Given the description of an element on the screen output the (x, y) to click on. 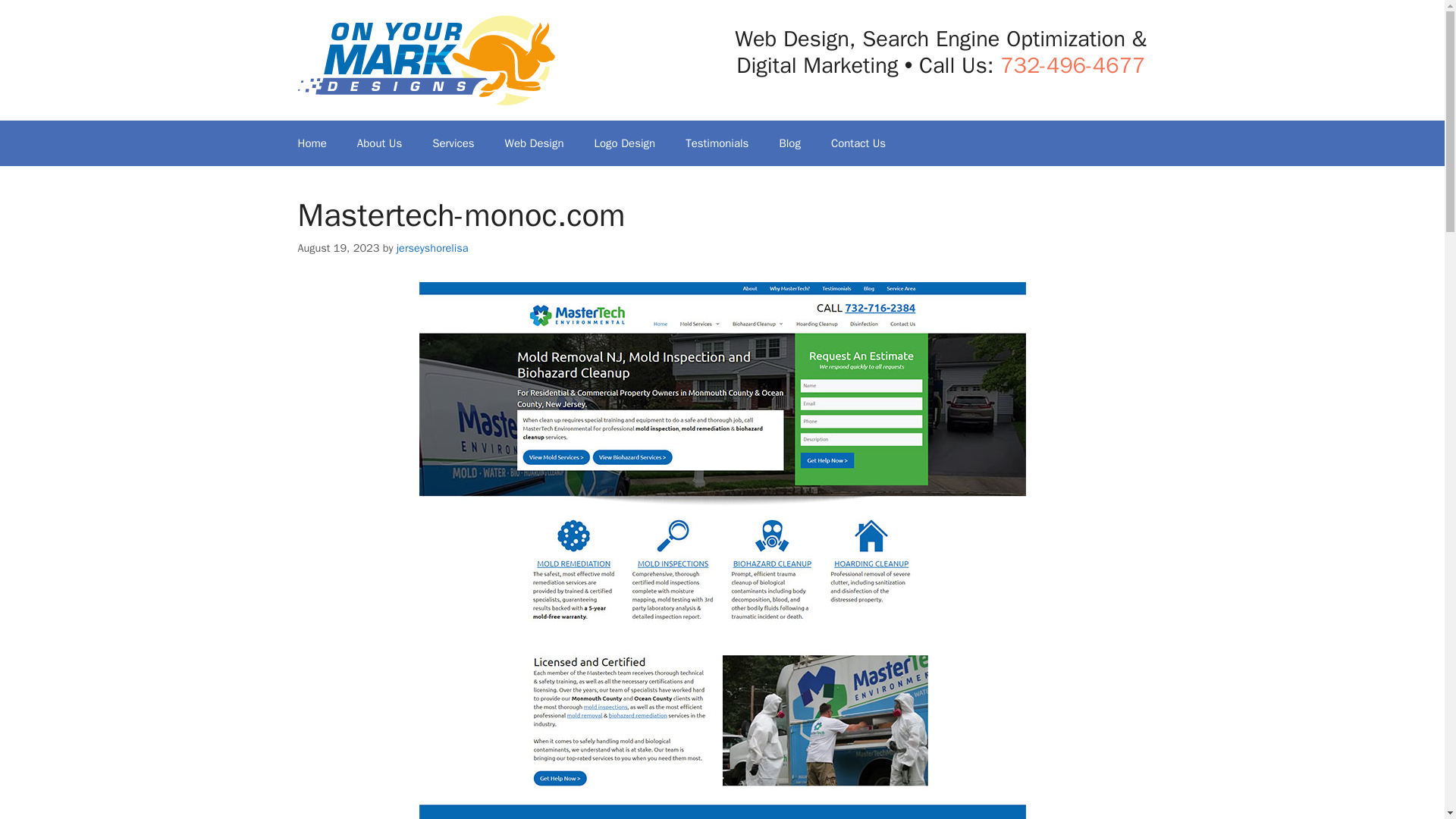
Home (311, 143)
Logo Design (625, 143)
About Us (379, 143)
Blog (788, 143)
Services (452, 143)
View all posts by jerseyshorelisa (432, 247)
Testimonials (715, 143)
jerseyshorelisa (432, 247)
Web Design (534, 143)
732-496-4677 (1072, 65)
Contact Us (858, 143)
